Given the description of an element on the screen output the (x, y) to click on. 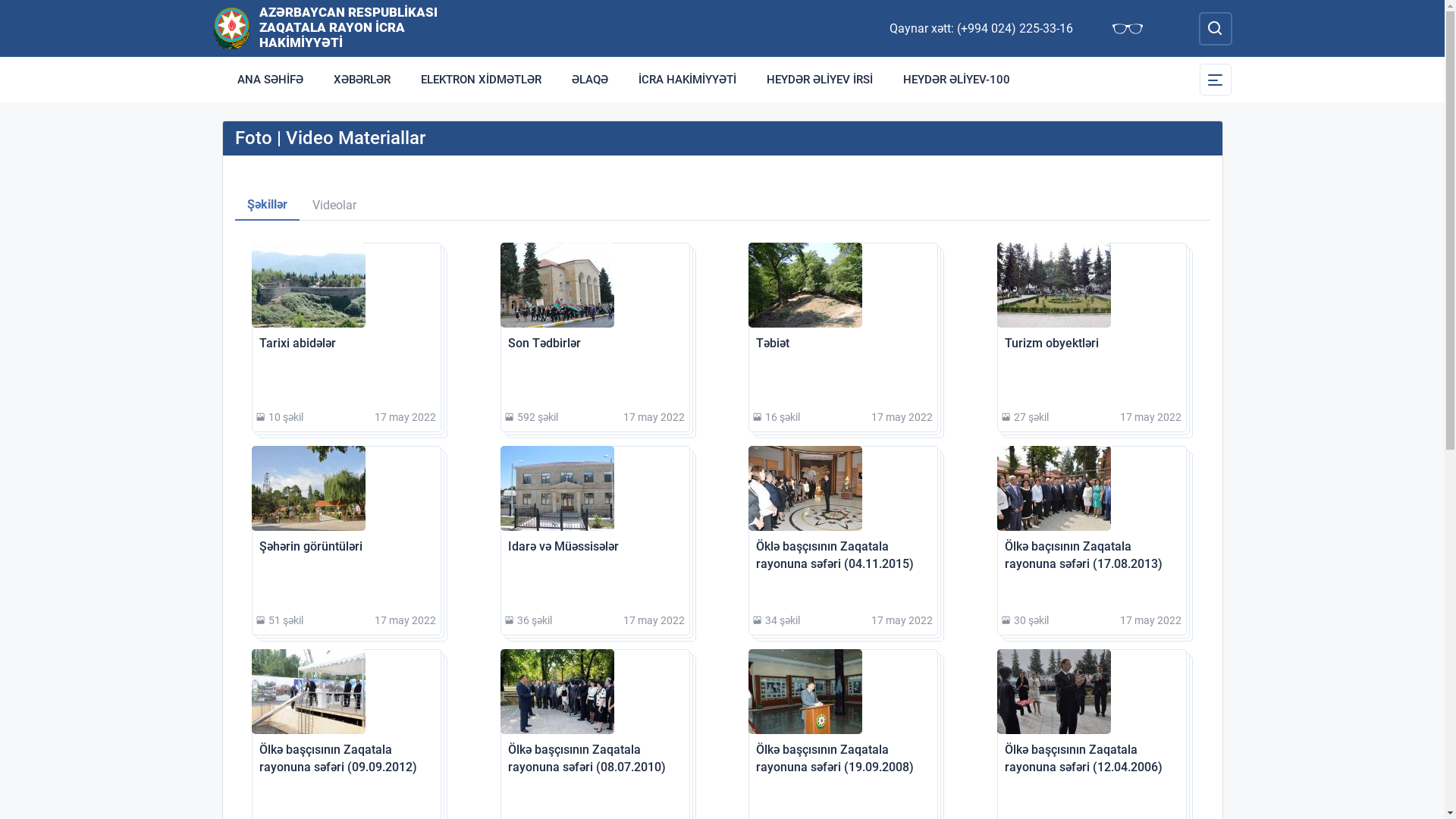
Videolar Element type: text (333, 205)
